Given the description of an element on the screen output the (x, y) to click on. 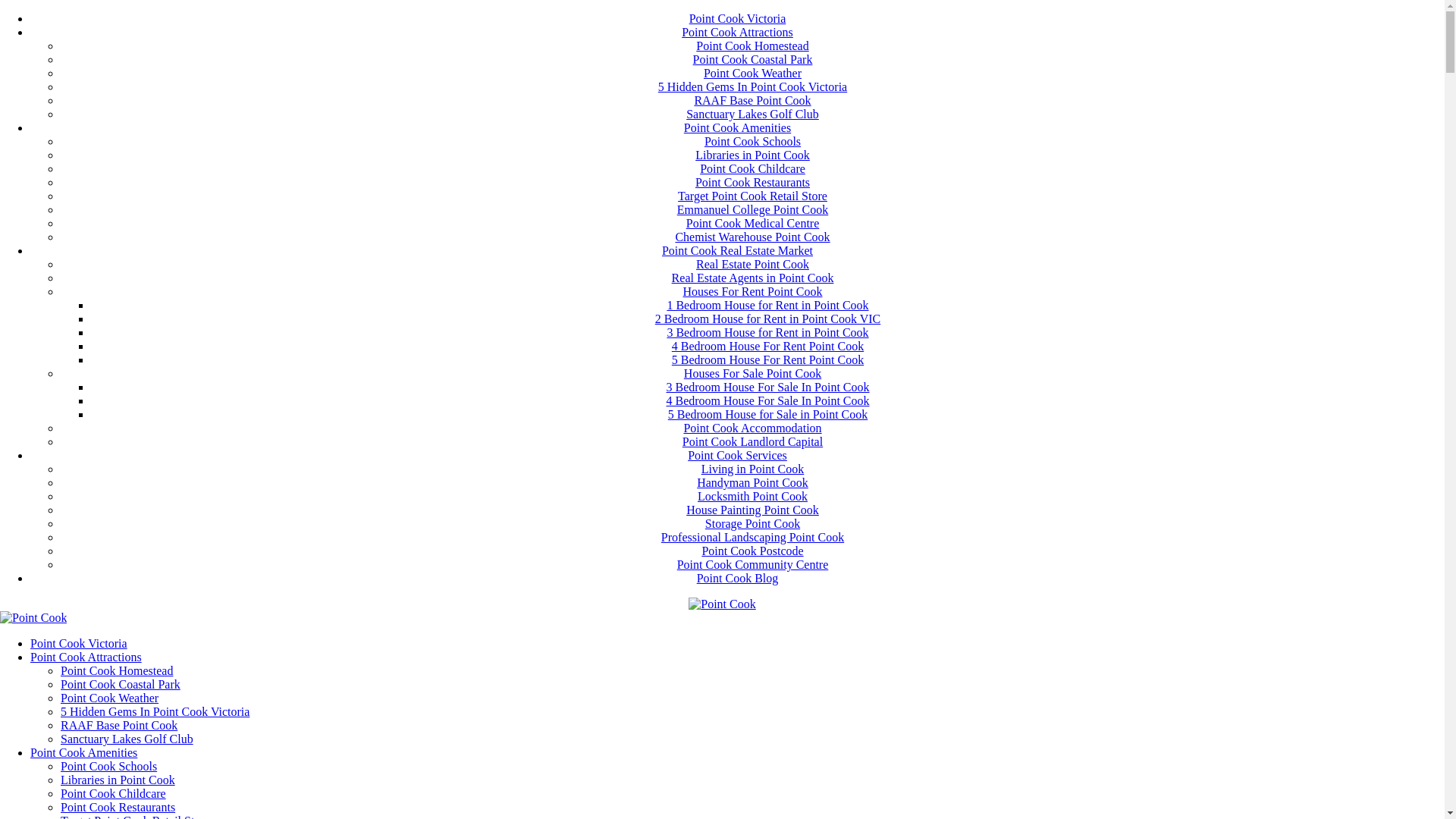
Point Cook Schools Element type: text (108, 765)
Point Cook Landlord Capital Element type: text (752, 441)
Libraries in Point Cook Element type: text (117, 779)
Emmanuel College Point Cook Element type: text (752, 209)
Handyman Point Cook Element type: text (752, 482)
Sanctuary Lakes Golf Club Element type: text (126, 738)
Point Cook Childcare Element type: text (752, 168)
Point Cook Restaurants Element type: text (752, 181)
5 Hidden Gems In Point Cook Victoria Element type: text (752, 86)
Houses For Sale Point Cook Element type: text (752, 373)
Storage Point Cook Element type: text (752, 523)
Point Cook Amenities Element type: text (83, 752)
4 Bedroom House For Rent Point Cook Element type: text (767, 345)
Point Cook Weather Element type: text (752, 72)
Libraries in Point Cook Element type: text (752, 154)
4 Bedroom House For Sale In Point Cook Element type: text (767, 400)
Point Cook Accommodation Element type: text (752, 427)
Point Cook Postcode Element type: text (752, 550)
Locksmith Point Cook Element type: text (752, 495)
Professional Landscaping Point Cook Element type: text (752, 536)
3 Bedroom House for Rent in Point Cook Element type: text (767, 332)
1 Bedroom House for Rent in Point Cook Element type: text (767, 304)
Real Estate Point Cook Element type: text (752, 263)
Sanctuary Lakes Golf Club Element type: text (752, 113)
Living in Point Cook Element type: text (752, 468)
Point Cook Coastal Park Element type: text (752, 59)
RAAF Base Point Cook Element type: text (751, 100)
2 Bedroom House for Rent in Point Cook VIC Element type: text (767, 318)
5 Bedroom House for Sale in Point Cook Element type: text (768, 413)
Point Cook Childcare Element type: text (113, 793)
Real Estate Agents in Point Cook Element type: text (752, 277)
5 Hidden Gems In Point Cook Victoria Element type: text (154, 711)
RAAF Base Point Cook Element type: text (118, 724)
3 Bedroom House For Sale In Point Cook Element type: text (767, 386)
Point Cook Services Element type: text (737, 454)
Point Cook Attractions Element type: text (737, 31)
Point Cook Community Centre Element type: text (752, 564)
Target Point Cook Retail Store Element type: text (752, 195)
Point Cook Victoria Element type: text (737, 18)
5 Bedroom House For Rent Point Cook Element type: text (767, 359)
Houses For Rent Point Cook Element type: text (752, 291)
Point Cook Attractions Element type: text (85, 656)
Point Cook Schools Element type: text (752, 140)
Point Cook Medical Centre Element type: text (752, 222)
Point Cook Homestead Element type: text (752, 45)
Chemist Warehouse Point Cook Element type: text (751, 236)
Point Cook Coastal Park Element type: text (120, 683)
Point Cook Weather Element type: text (109, 697)
Point Cook Victoria Element type: text (78, 643)
House Painting Point Cook Element type: text (752, 509)
Point Cook Real Estate Market Element type: text (737, 250)
Point Cook Restaurants Element type: text (117, 806)
Point Cook Amenities Element type: text (737, 127)
Point Cook Homestead Element type: text (116, 670)
Point Cook Blog Element type: text (737, 577)
